Given the description of an element on the screen output the (x, y) to click on. 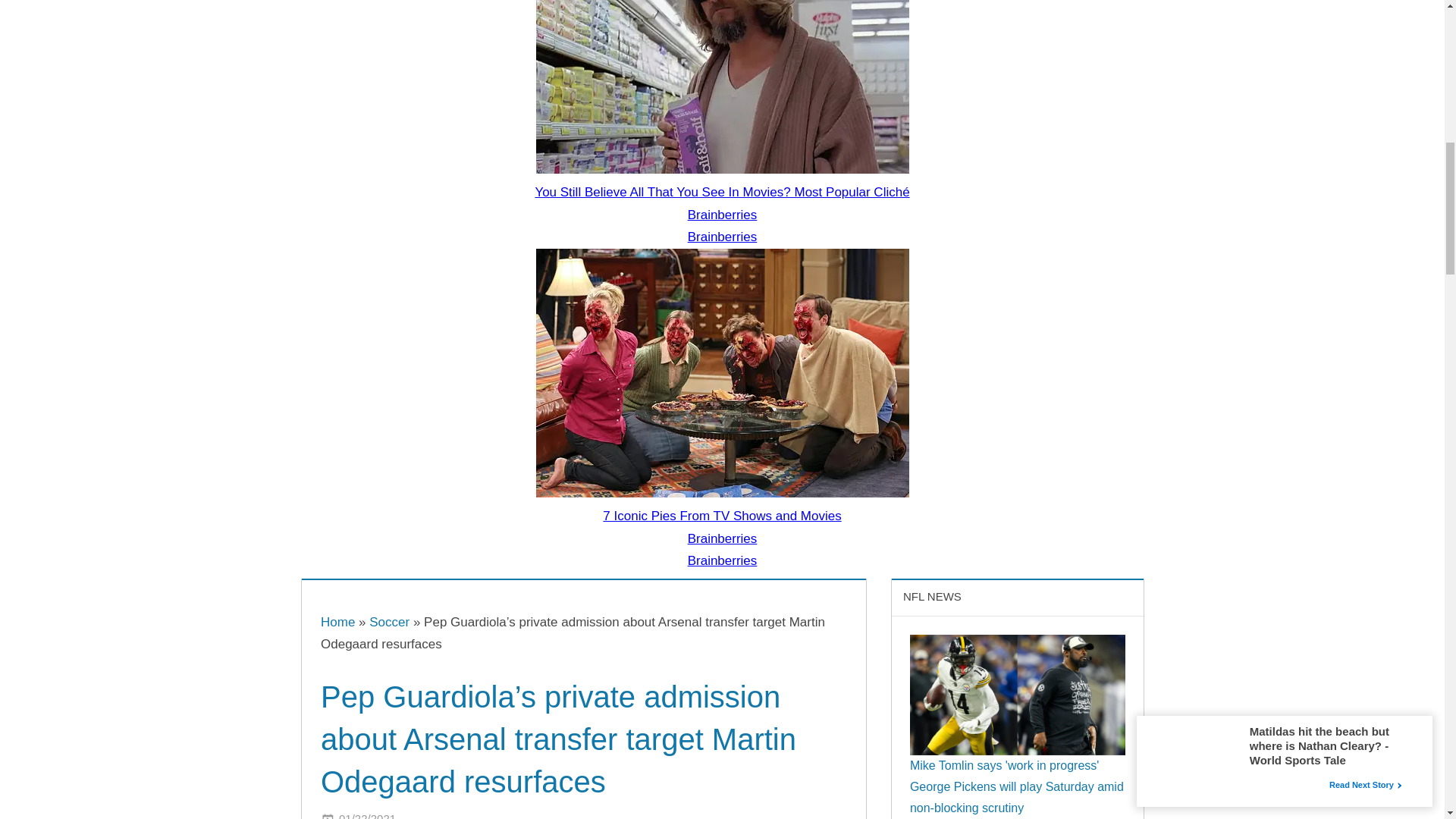
Home (337, 621)
Soccer (389, 621)
20:19 (367, 815)
